Given the description of an element on the screen output the (x, y) to click on. 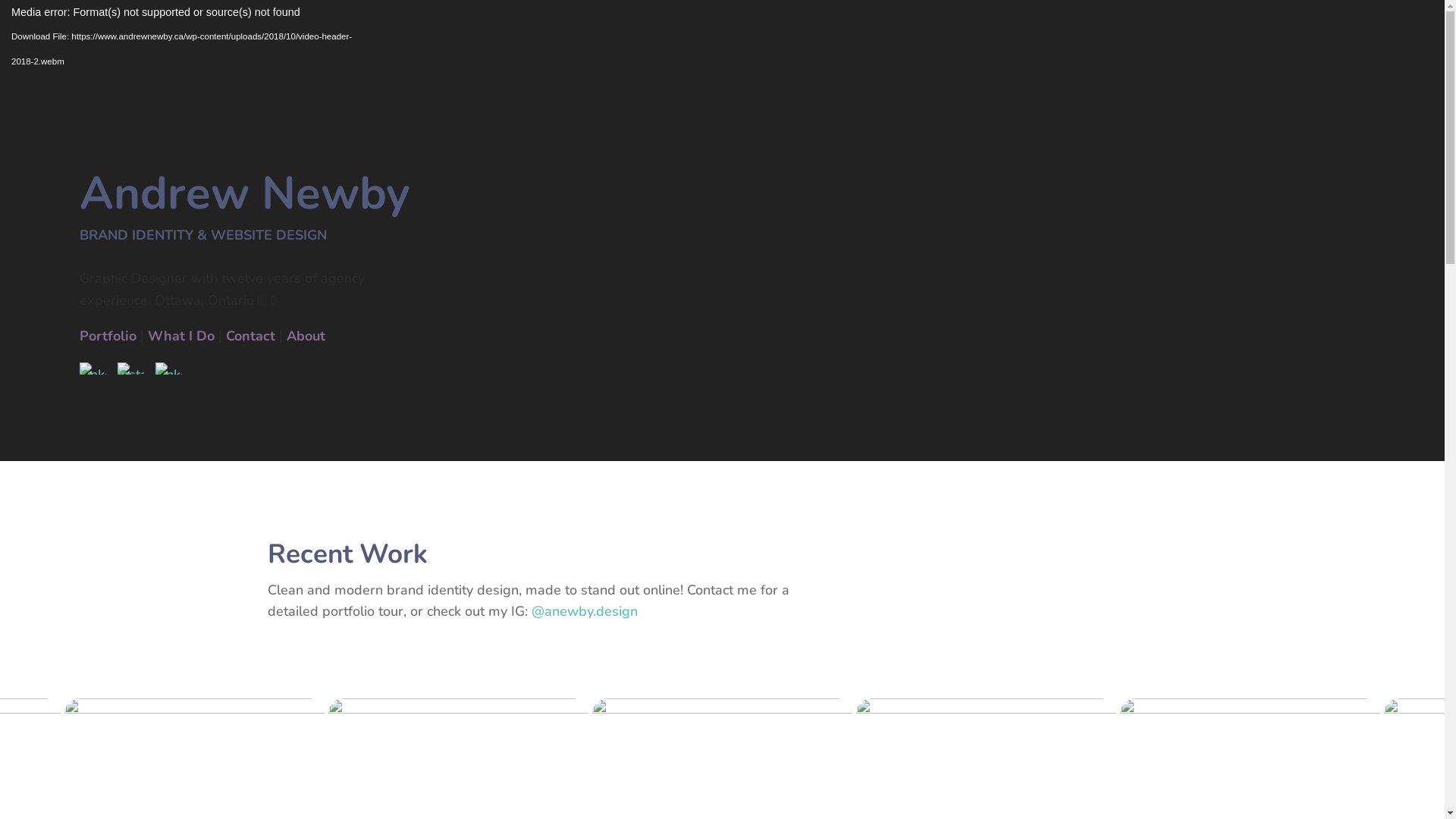
LinkedIn Element type: hover (92, 368)
@anewby.design Element type: text (583, 611)
Portfolio Element type: text (107, 335)
Messenger Element type: hover (168, 368)
What I Do Element type: text (180, 335)
Contact Element type: text (250, 335)
About Element type: text (305, 335)
Instagram Element type: hover (130, 368)
